Given the description of an element on the screen output the (x, y) to click on. 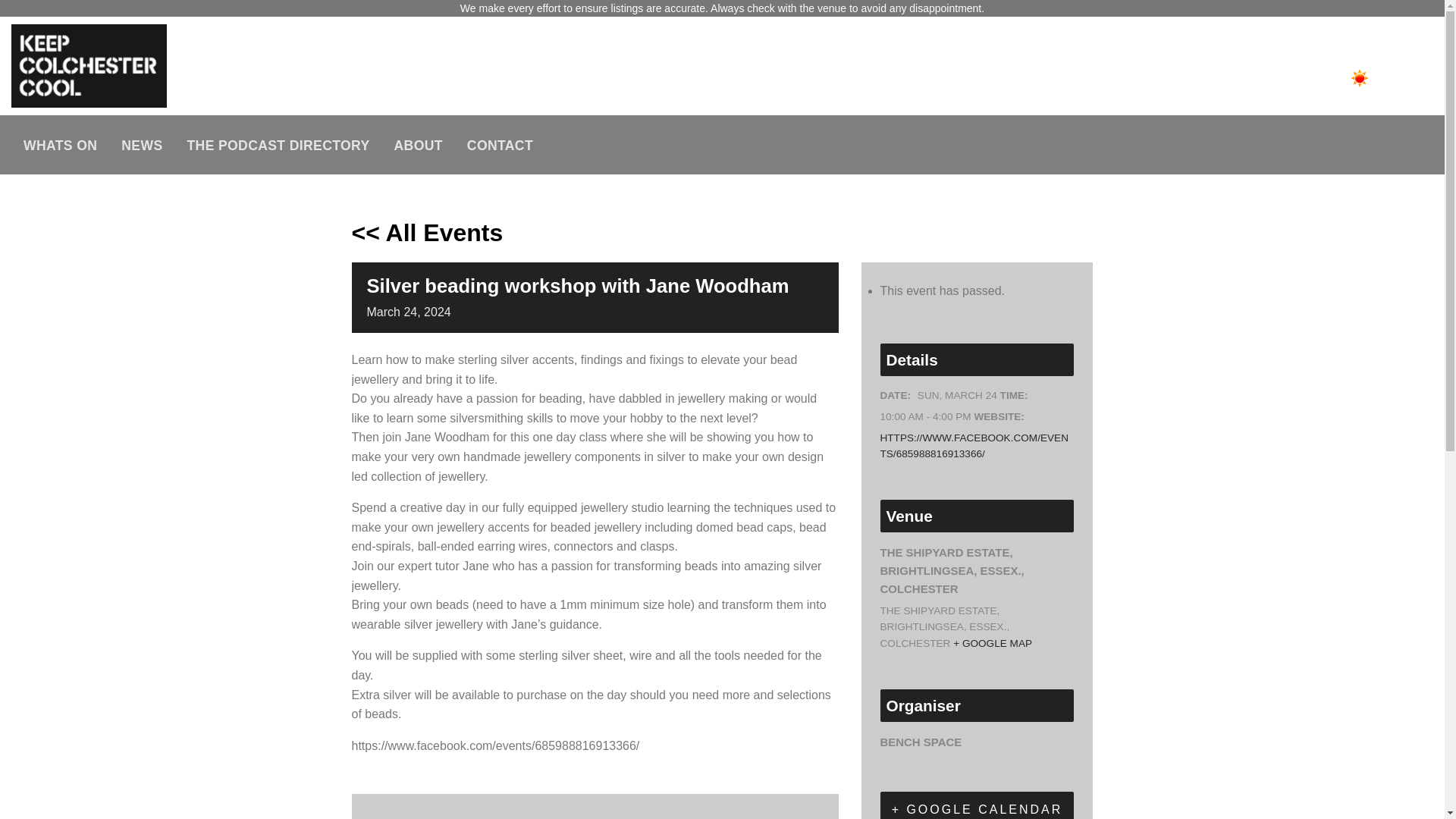
Send us an email (1409, 47)
2024-03-24 (925, 416)
THE PODCAST DIRECTORY (277, 144)
Add to Google Calendar (976, 805)
NEWS (141, 144)
2024-03-24 (957, 395)
CONTACT (499, 144)
Click to view a Google Map (992, 643)
Follow on Facebook (1326, 47)
